Given the description of an element on the screen output the (x, y) to click on. 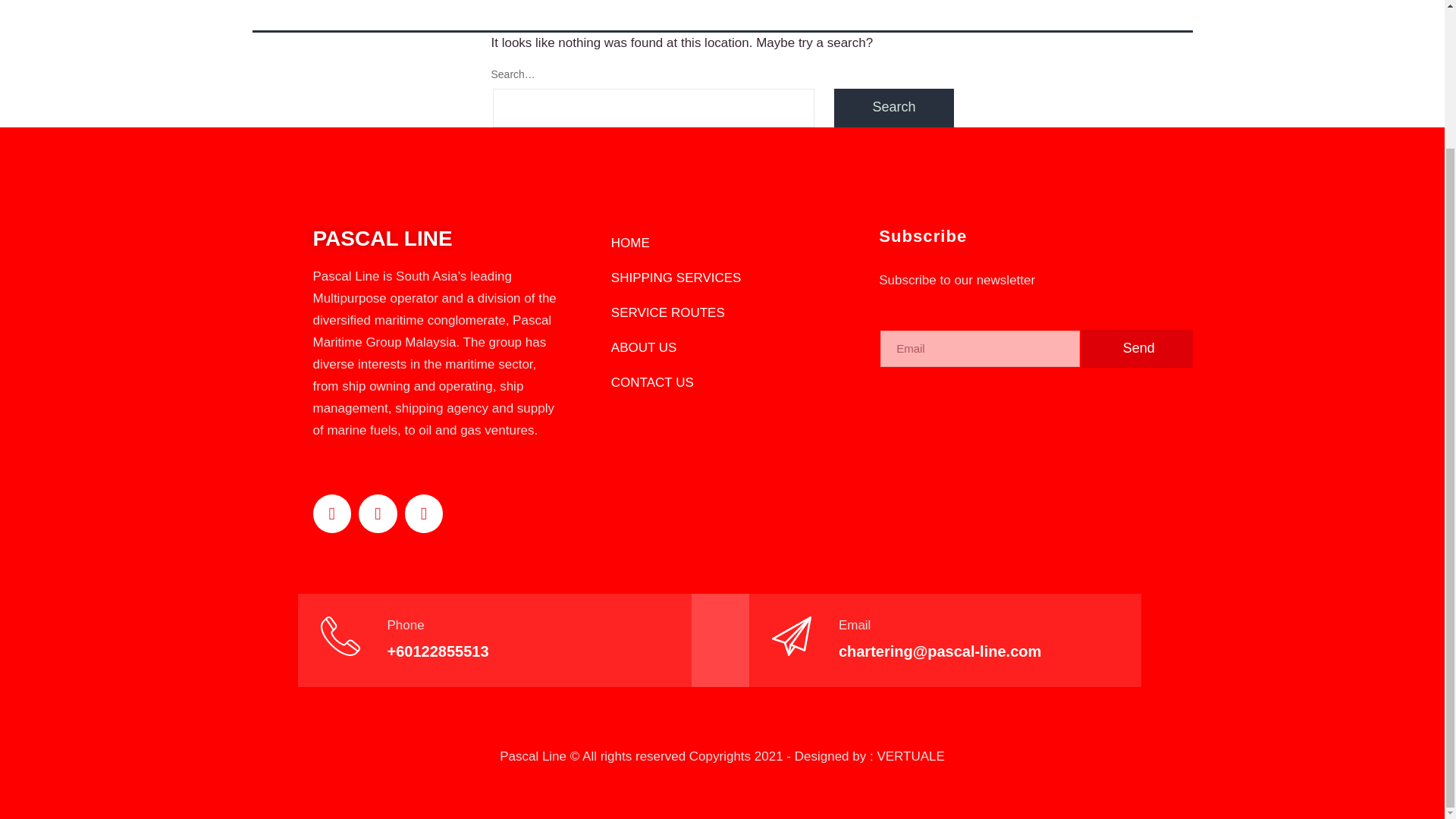
Search (893, 107)
CONTACT US (721, 382)
ABOUT US (721, 347)
Send (1136, 348)
SERVICE ROUTES (721, 312)
SHIPPING SERVICES (721, 278)
Search (893, 107)
Search (893, 107)
Email (854, 625)
HOME (721, 243)
